Given the description of an element on the screen output the (x, y) to click on. 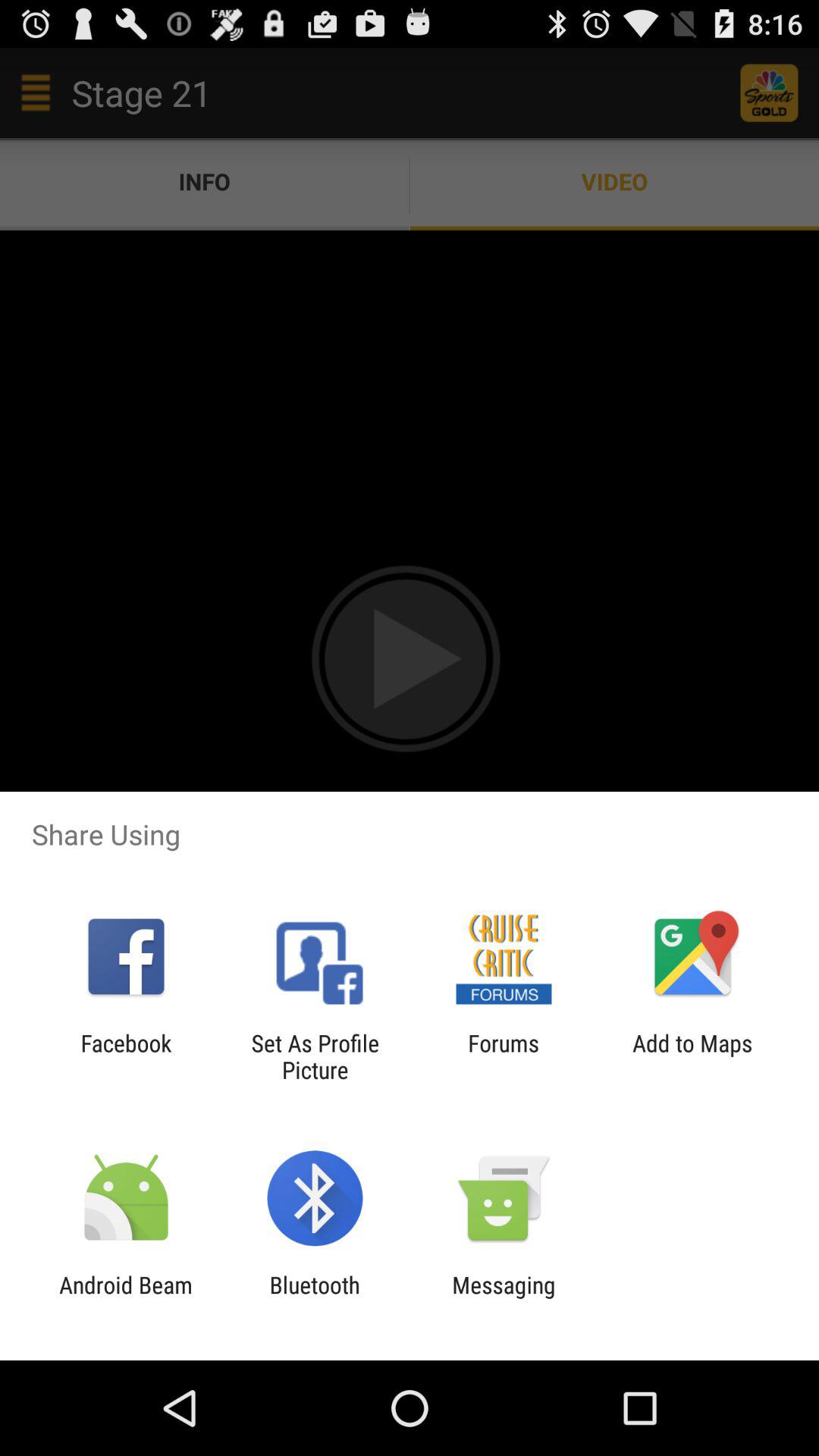
turn off android beam item (125, 1298)
